Given the description of an element on the screen output the (x, y) to click on. 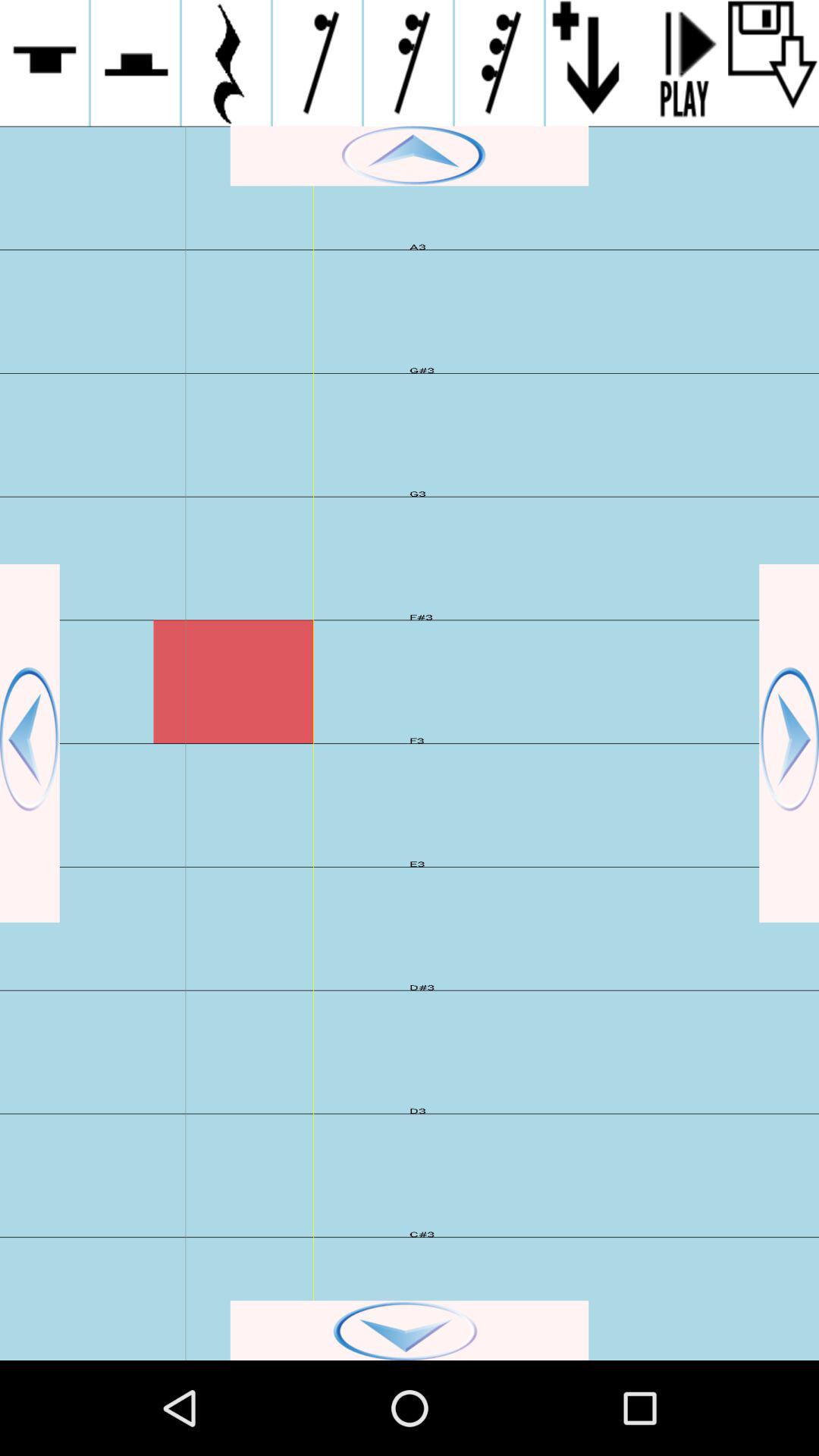
activate 4th icon (317, 63)
